Given the description of an element on the screen output the (x, y) to click on. 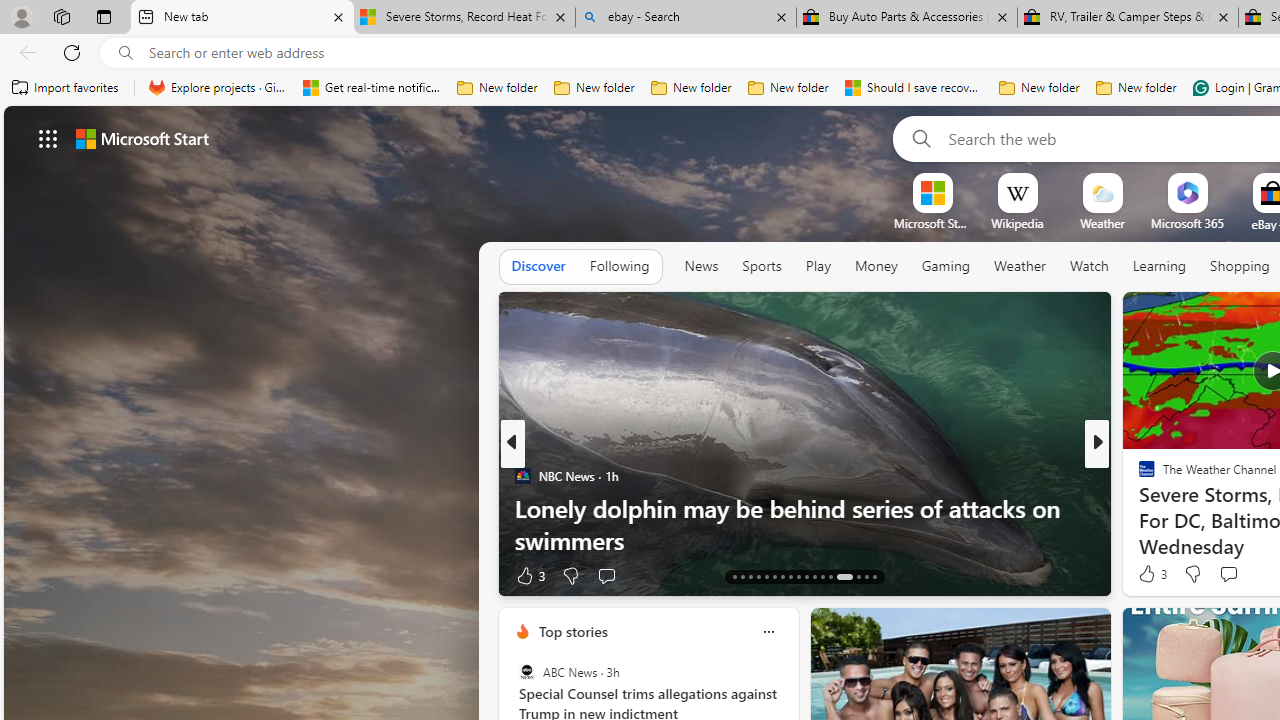
AutomationID: tab-20 (789, 576)
View comments 167 Comment (11, 575)
ABC News (526, 672)
View comments 8 Comment (1229, 575)
AutomationID: tab-26 (844, 576)
Weather (1019, 267)
Microsoft start (142, 138)
AutomationID: tab-16 (757, 576)
New folder (1136, 88)
